Given the description of an element on the screen output the (x, y) to click on. 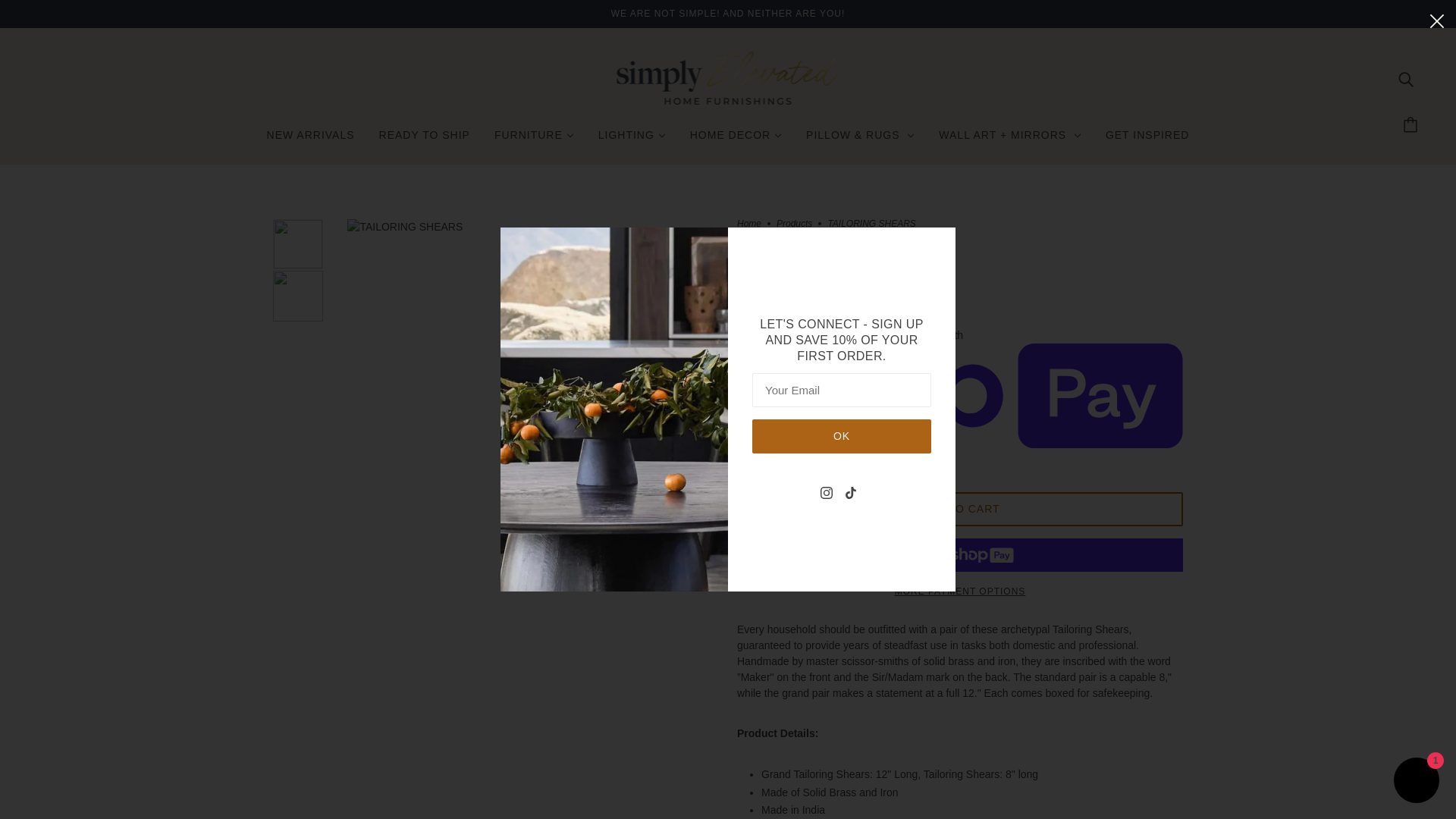
READY TO SHIP (423, 140)
Shopify online store chat (1416, 781)
Simply Elevated Home Furnishings  (728, 101)
NEW ARRIVALS (310, 140)
FURNITURE  (533, 140)
